Given the description of an element on the screen output the (x, y) to click on. 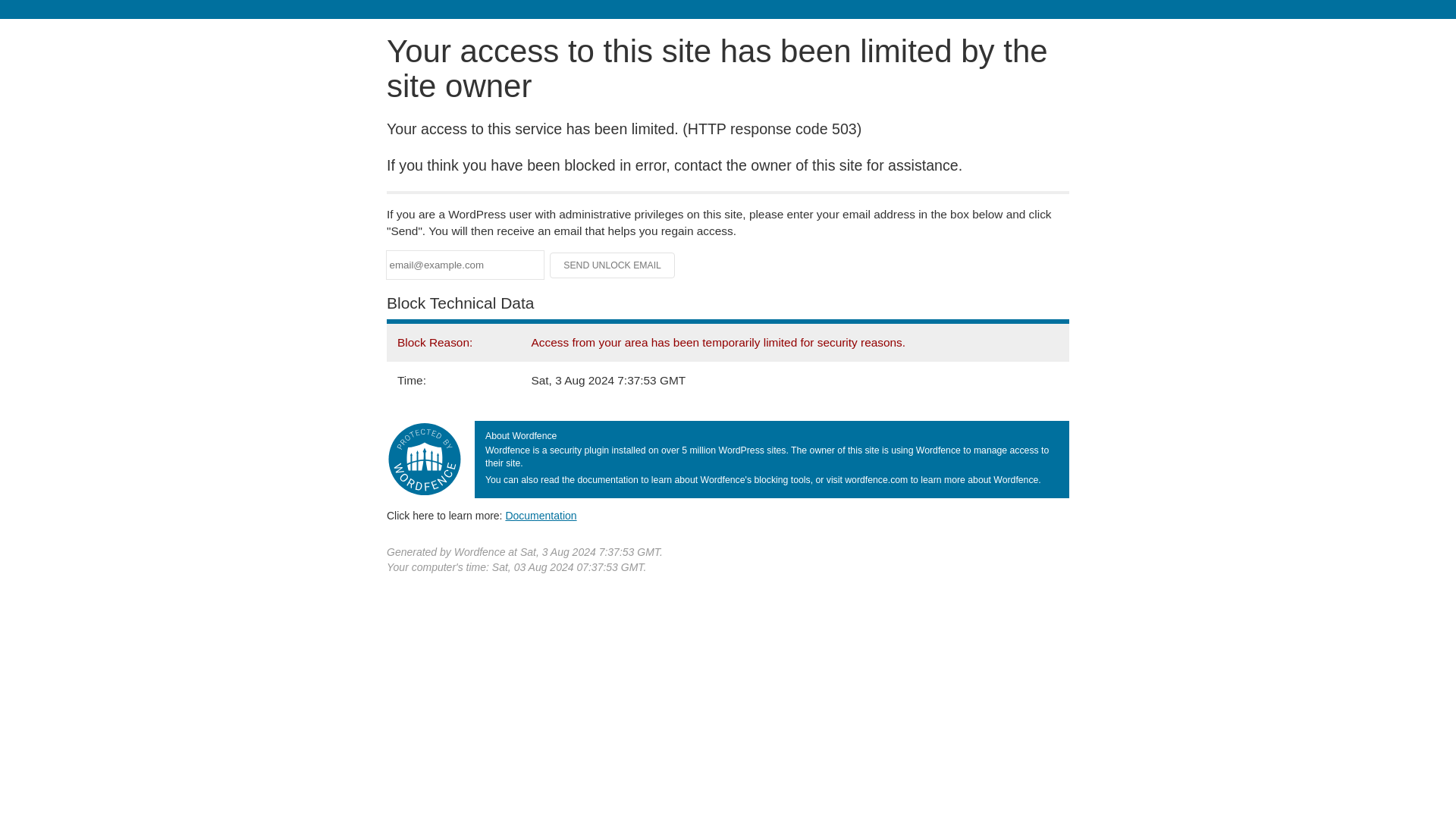
Send Unlock Email (612, 265)
Send Unlock Email (612, 265)
Documentation (540, 515)
